Given the description of an element on the screen output the (x, y) to click on. 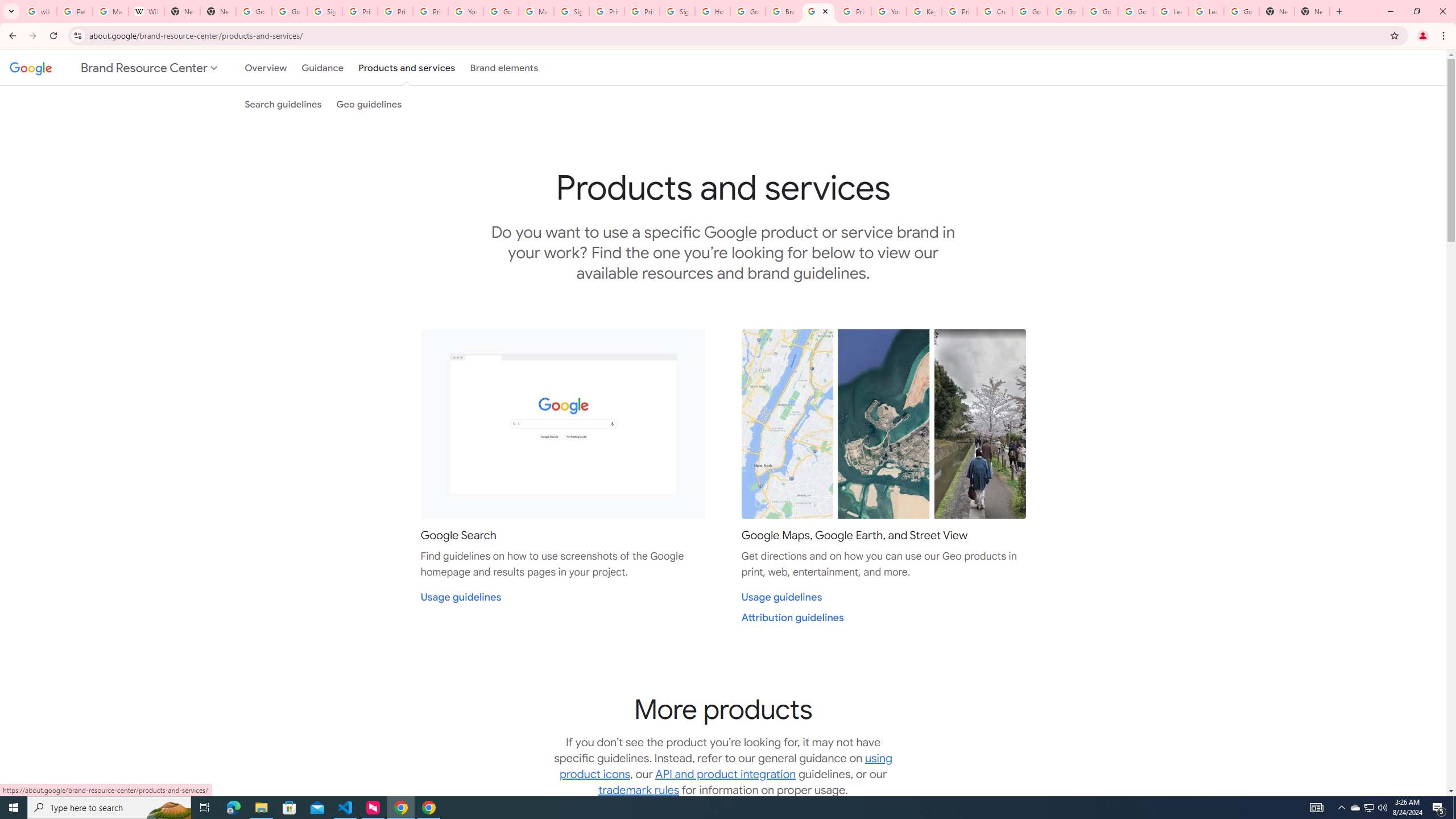
New Tab (1276, 11)
Google (28, 67)
Wikipedia:Edit requests - Wikipedia (145, 11)
Guidance (322, 67)
Sign in - Google Accounts (571, 11)
